Given the description of an element on the screen output the (x, y) to click on. 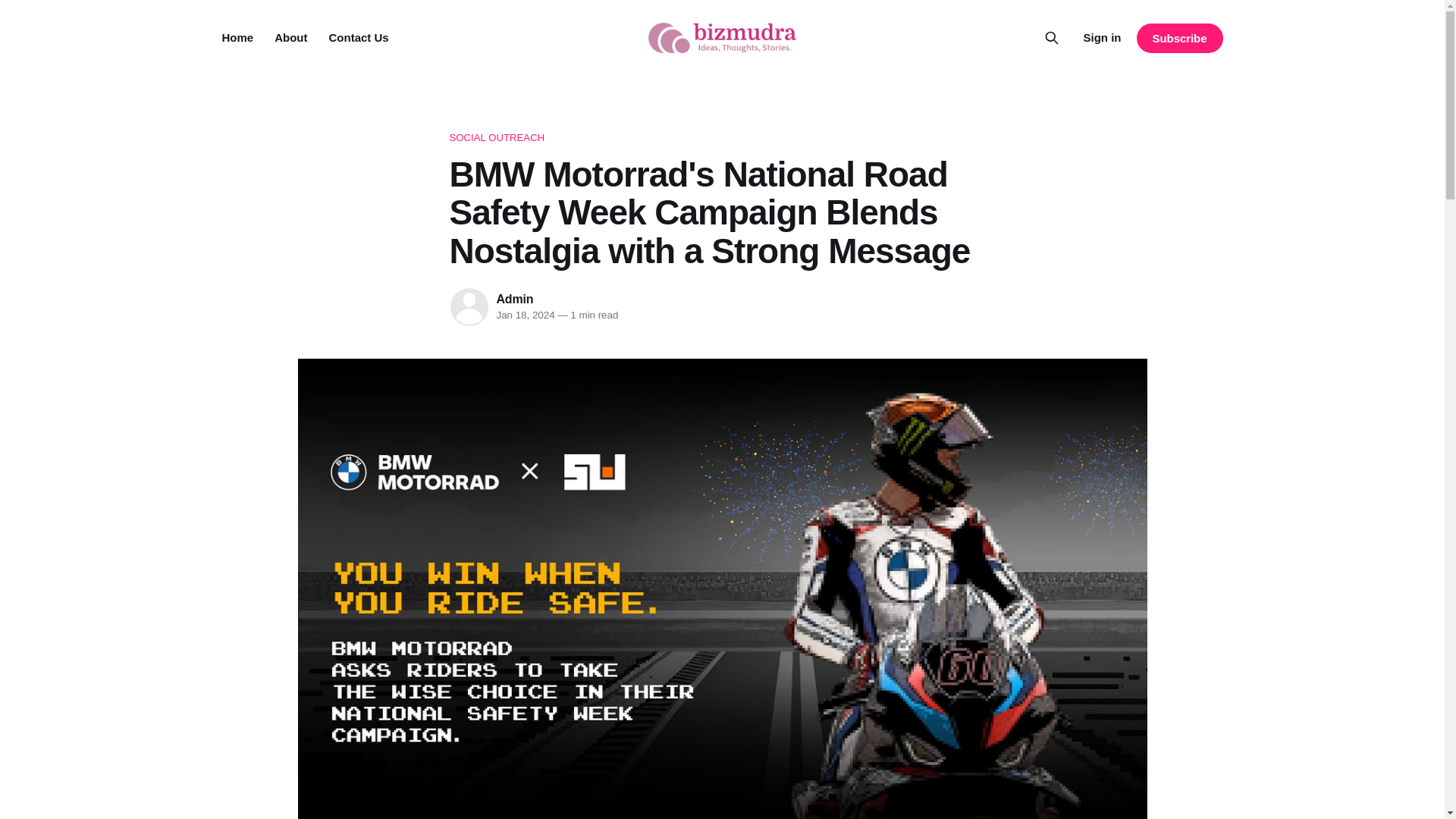
Subscribe (1179, 37)
Sign in (1102, 37)
SOCIAL OUTREACH (721, 138)
Contact Us (358, 37)
About (291, 37)
Admin (514, 298)
Home (237, 37)
